Given the description of an element on the screen output the (x, y) to click on. 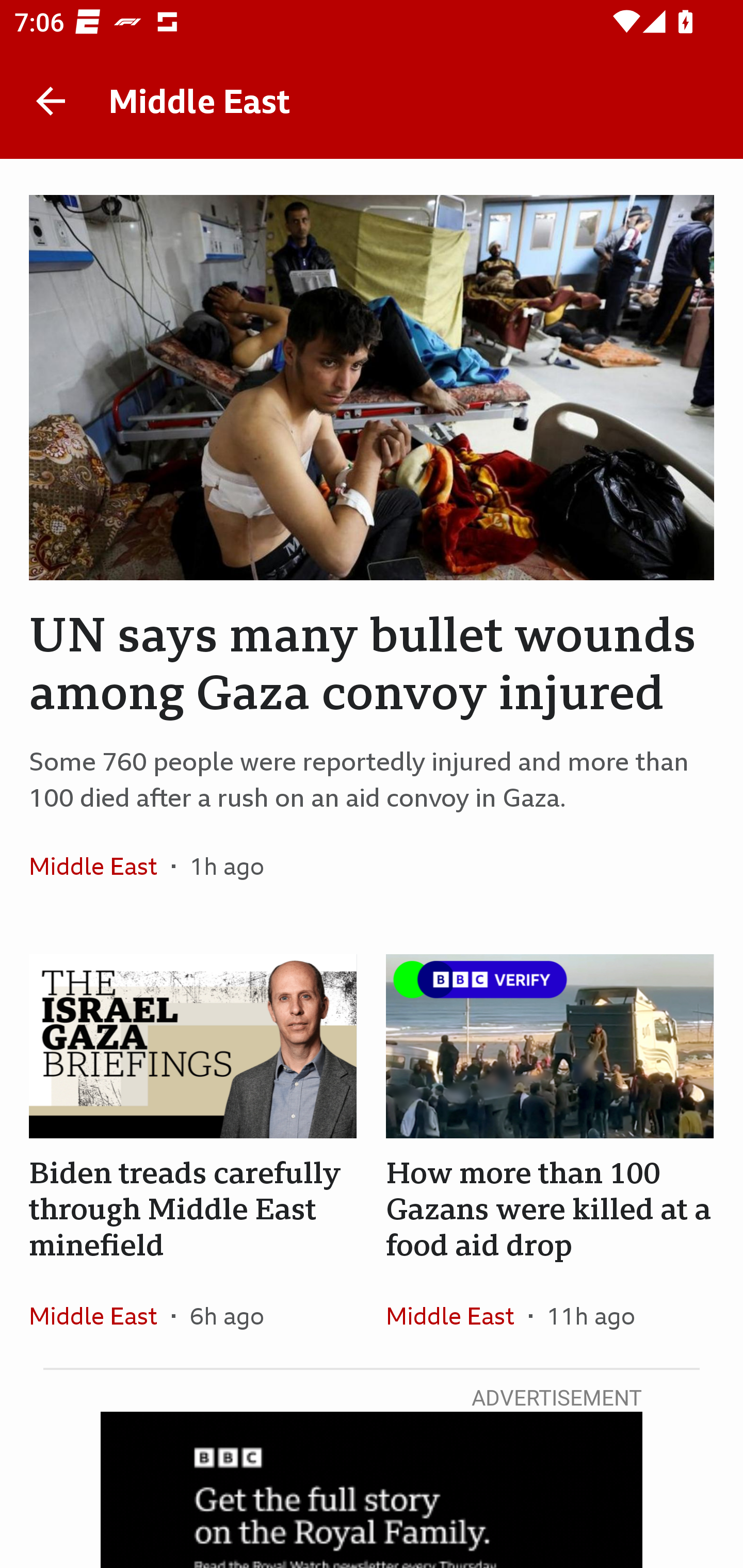
Back (50, 101)
Middle East In the section Middle East (99, 865)
Middle East In the section Middle East (99, 1315)
Middle East In the section Middle East (457, 1315)
